Given the description of an element on the screen output the (x, y) to click on. 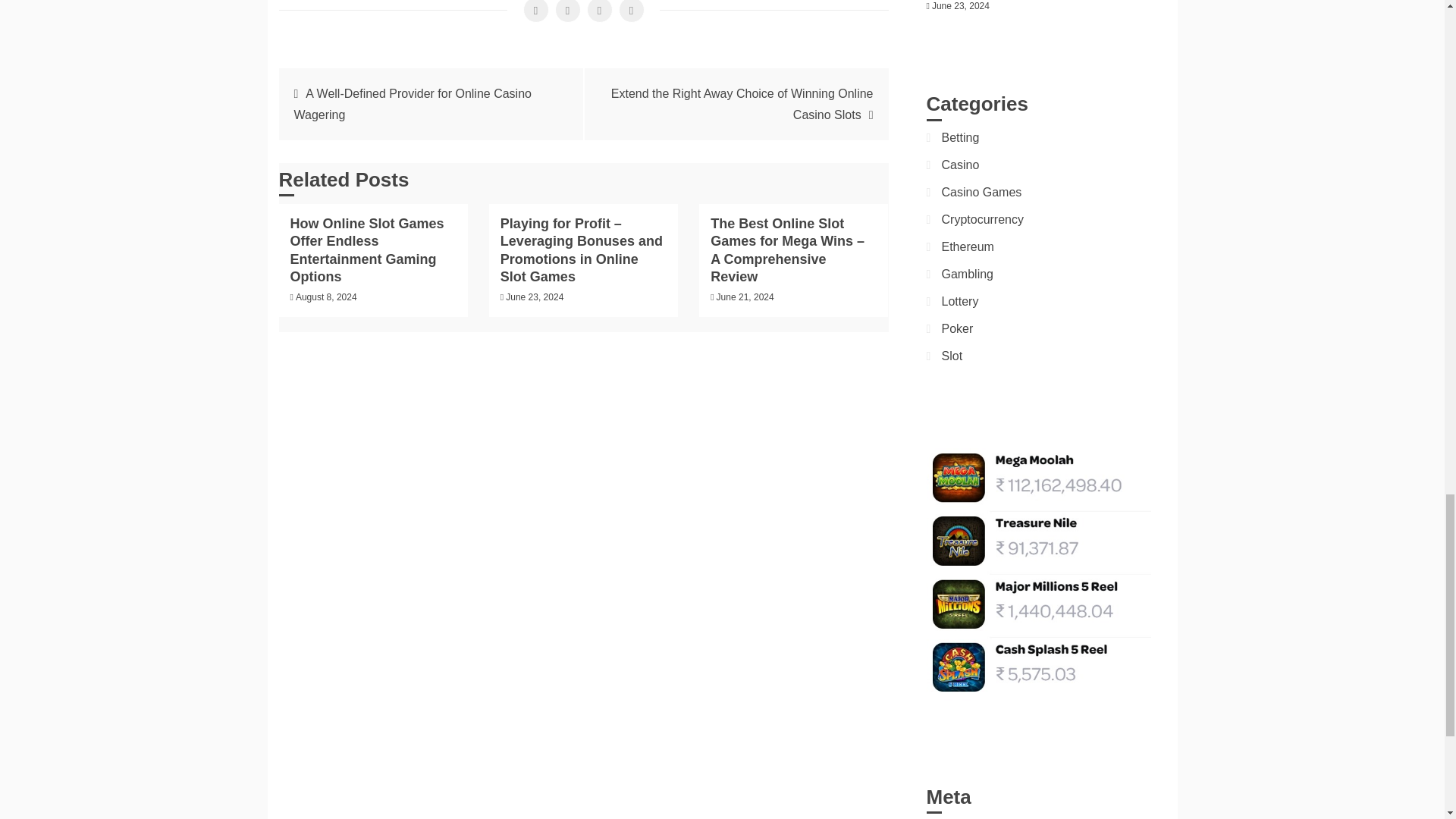
August 8, 2024 (325, 296)
June 21, 2024 (745, 296)
A Well-Defined Provider for Online Casino Wagering (412, 103)
Extend the Right Away Choice of Winning Online Casino Slots (742, 103)
June 23, 2024 (534, 296)
